Given the description of an element on the screen output the (x, y) to click on. 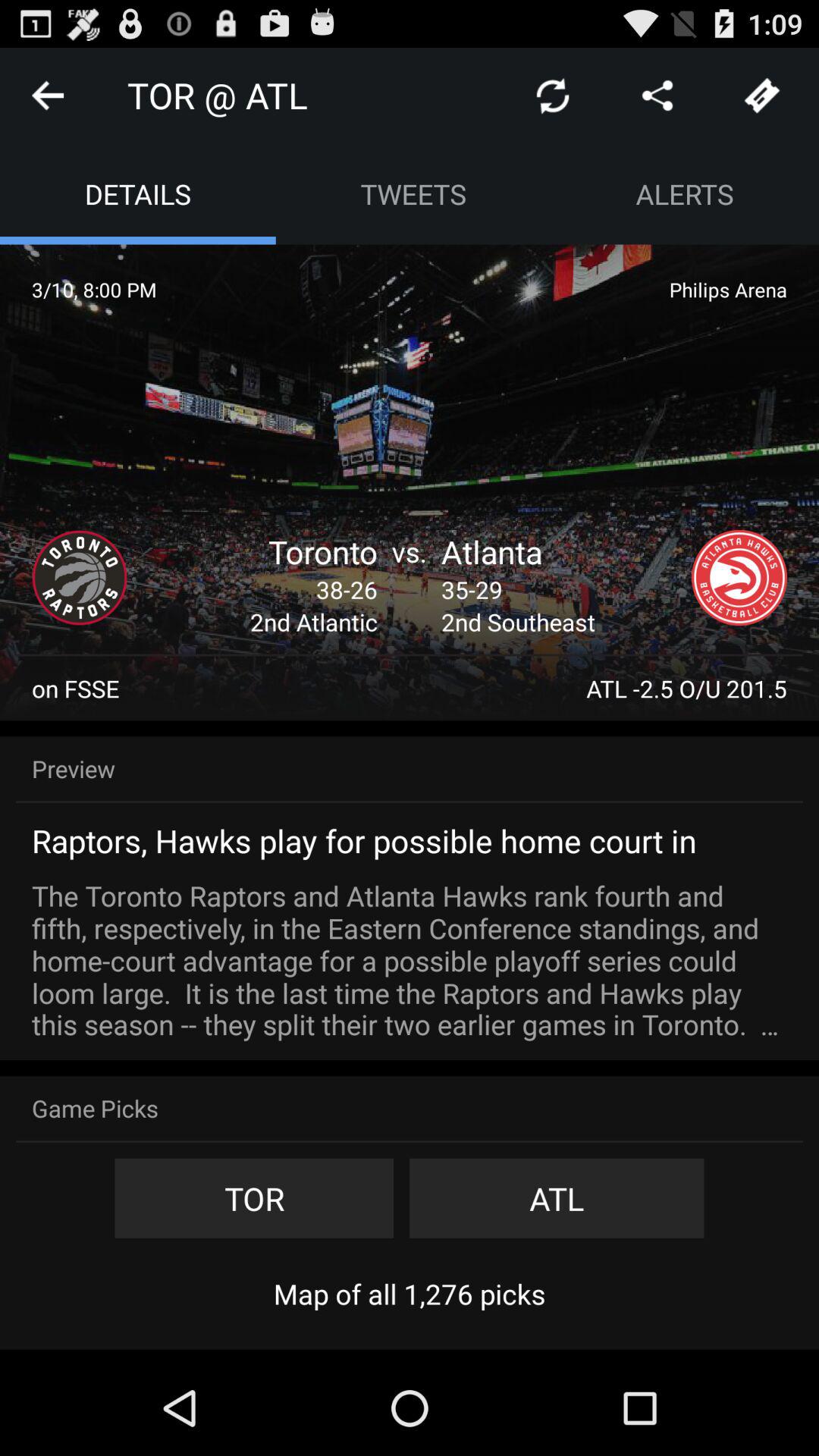
view details about the toronto raptors (79, 577)
